Given the description of an element on the screen output the (x, y) to click on. 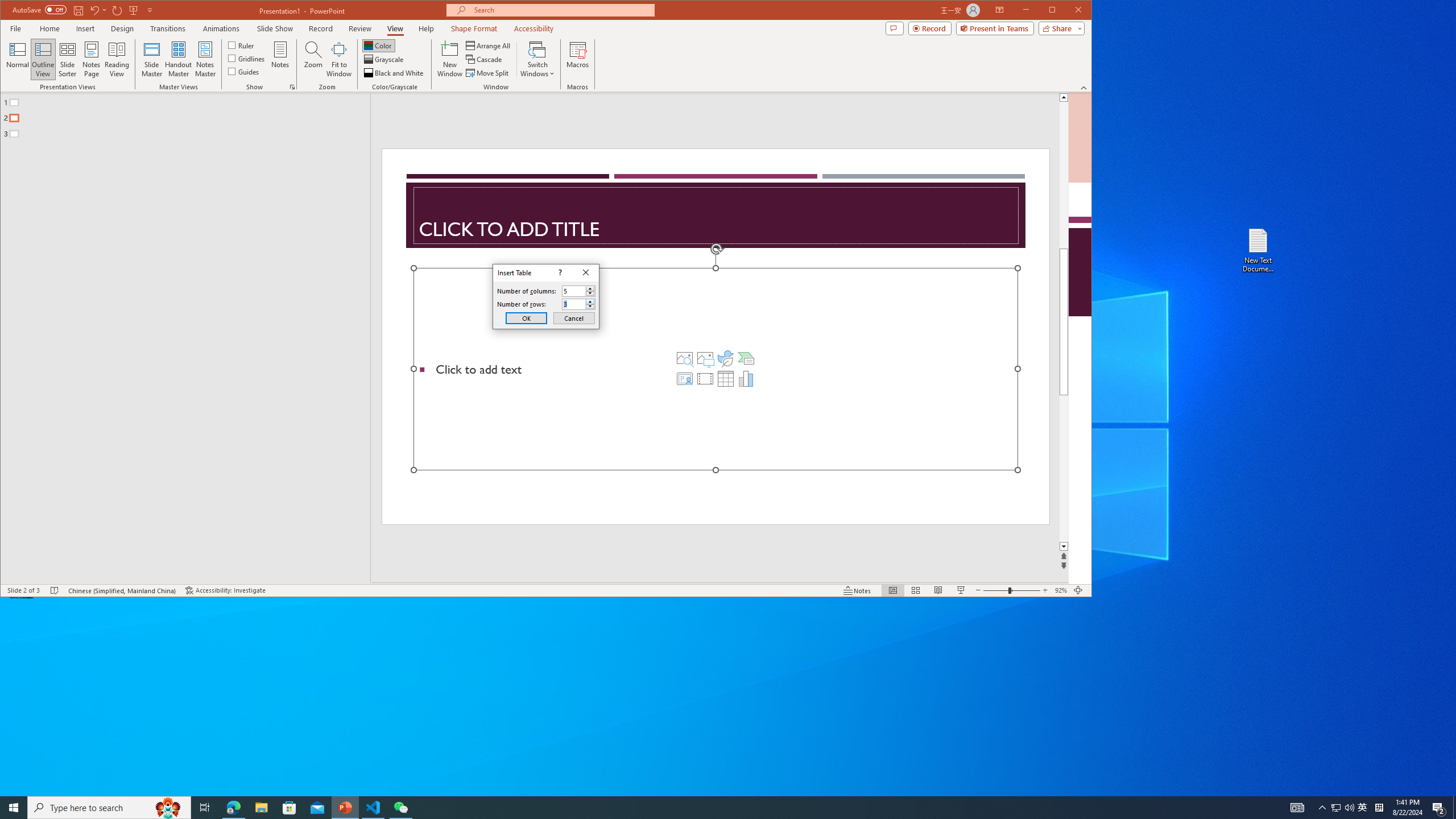
Insert a SmartArt Graphic (745, 357)
Fit to Window (338, 59)
OK (526, 318)
New Window (450, 59)
Black and White (394, 72)
Stock Images (684, 357)
Gridlines (246, 57)
Number of columns (573, 290)
